Given the description of an element on the screen output the (x, y) to click on. 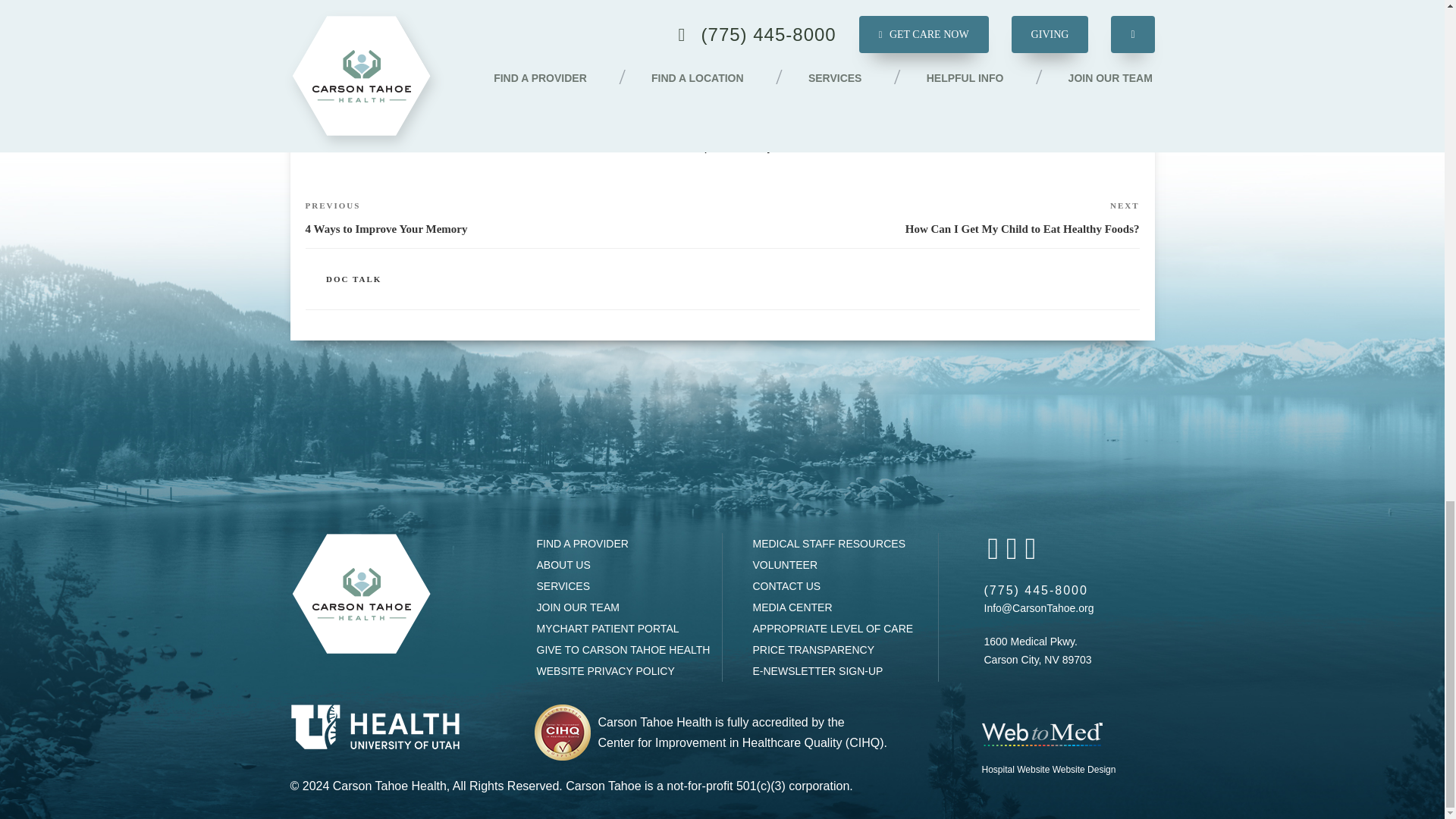
Call Us! (1035, 590)
